Given the description of an element on the screen output the (x, y) to click on. 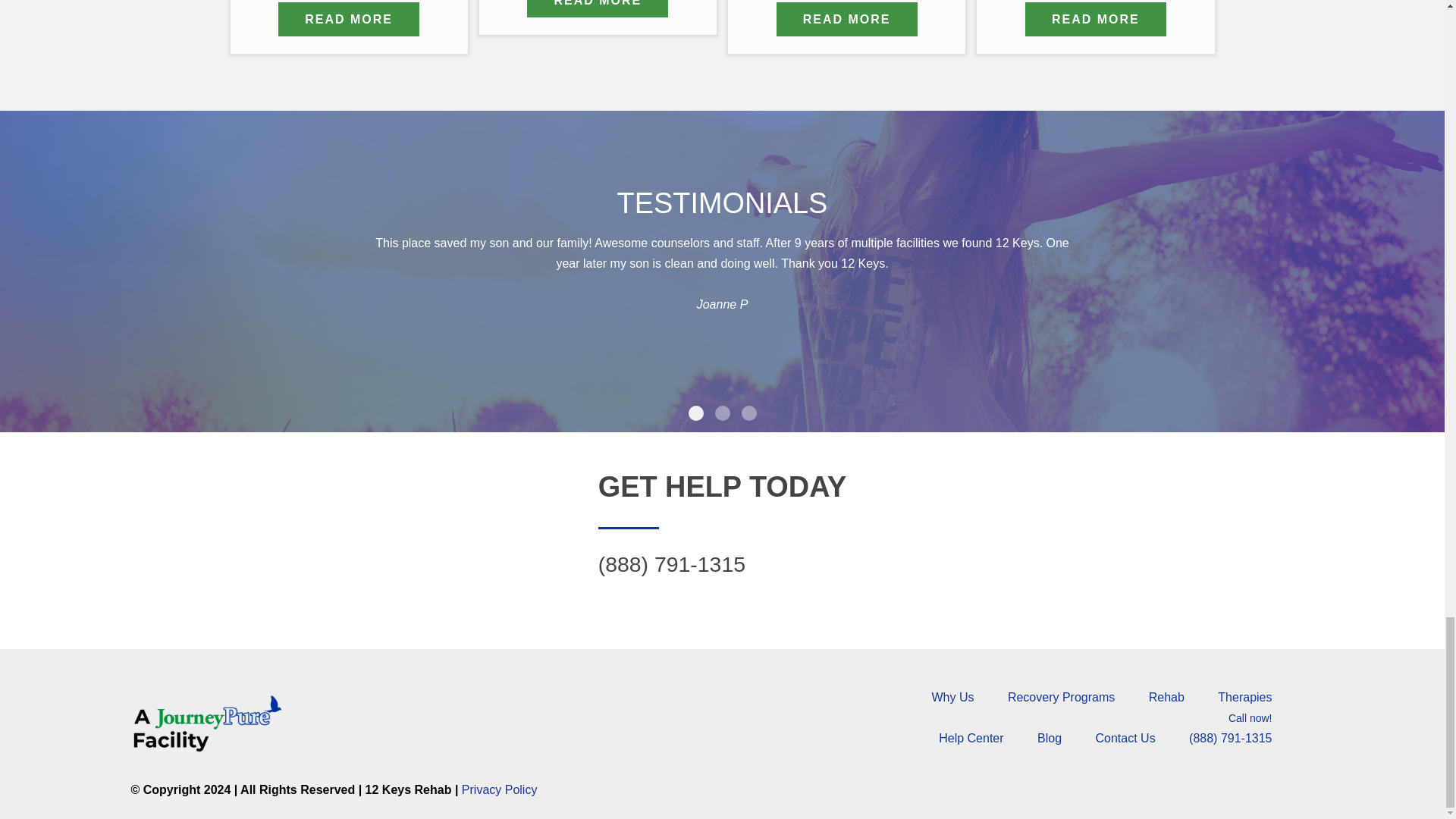
Entering alcohol rehab: Have I made the right choice? (597, 8)
